Given the description of an element on the screen output the (x, y) to click on. 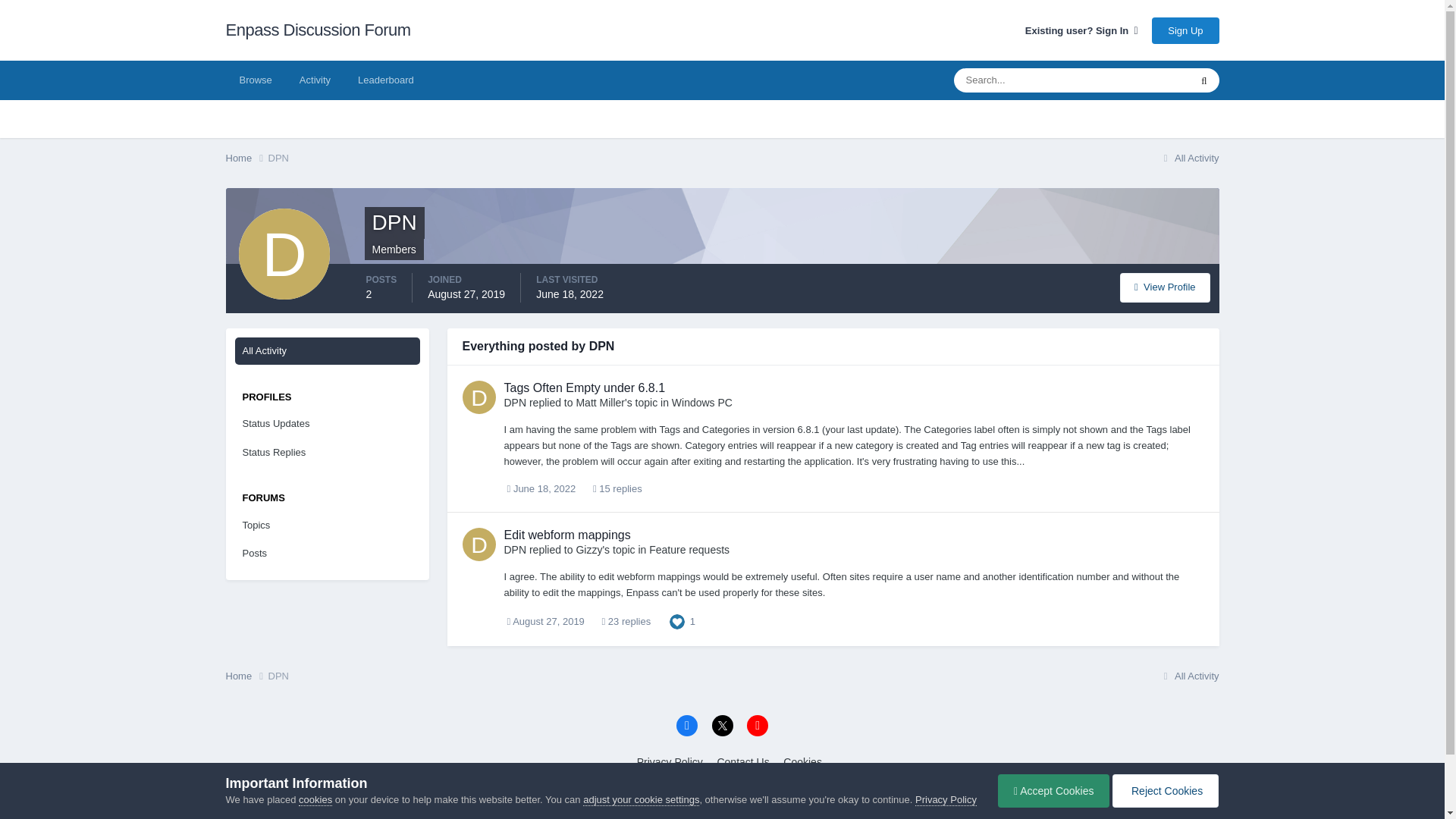
Go to DPN's profile (479, 544)
DPN (277, 157)
Activity (314, 79)
Like (676, 620)
Existing user? Sign In   (1081, 30)
Leaderboard (385, 79)
 View Profile (1164, 287)
Status Updates (327, 423)
DPN's Profile (1164, 287)
Go to Matt Miller's profile (599, 402)
All Activity (327, 350)
Go to DPN's profile (514, 402)
Go to DPN's profile (479, 397)
Tags Often Empty under 6.8.1 (584, 387)
All Activity (1188, 157)
